Given the description of an element on the screen output the (x, y) to click on. 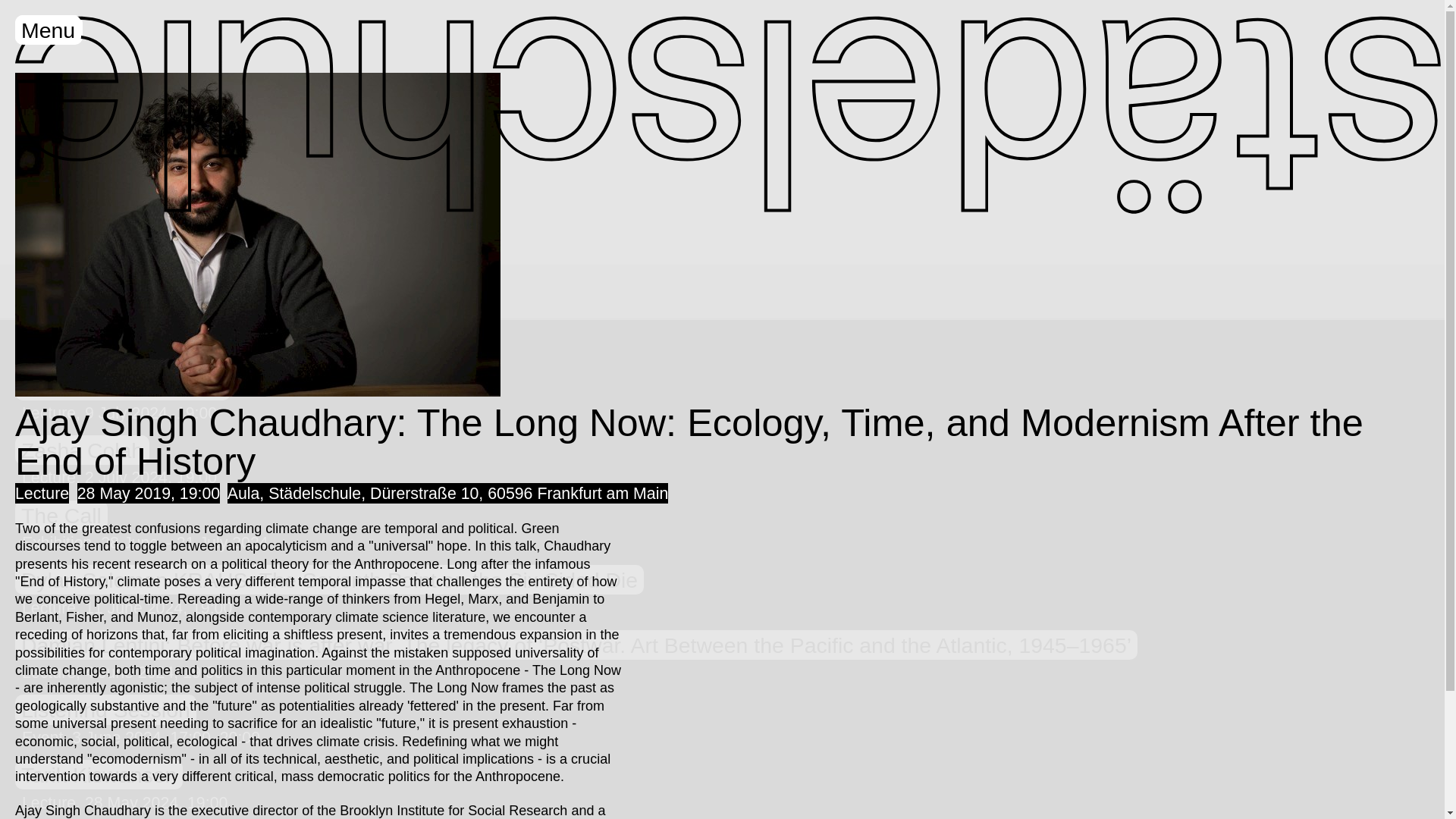
Next (273, 349)
Dylan Solomon KRAUS: The Seventh Point on the Six Sided Die (328, 579)
Menu (47, 30)
Previous (304, 349)
Tarik Kiswanson (98, 774)
Listening Session (105, 708)
The Call (60, 514)
Close (48, 30)
Vera Palme: The And (122, 384)
Zasha Colah (81, 449)
